Given the description of an element on the screen output the (x, y) to click on. 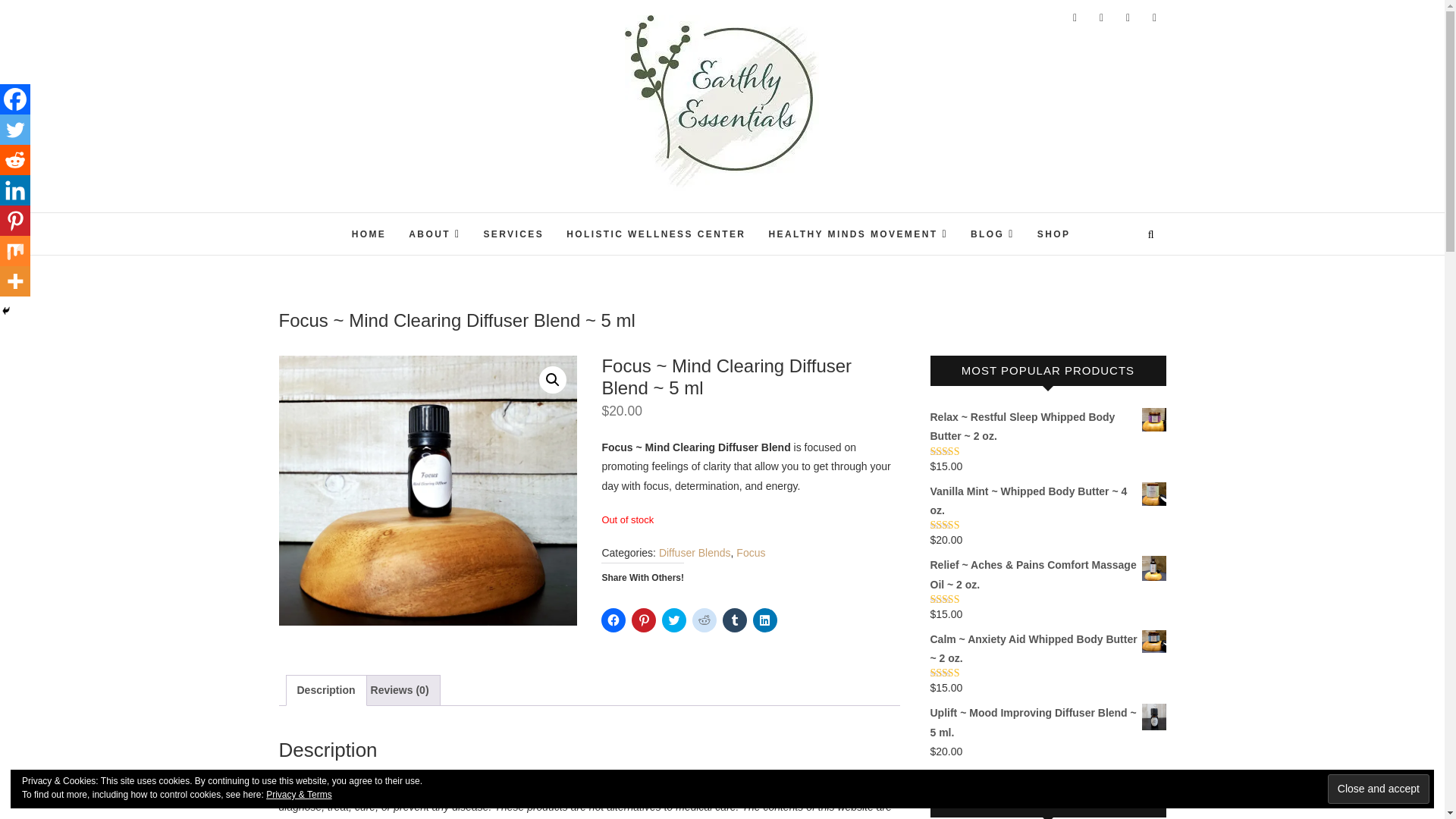
Close and accept (1378, 788)
Click to share on LinkedIn (764, 620)
Earthly Essentials (665, 215)
ABOUT (434, 233)
Click to share on Facebook (613, 620)
Click to share on Pinterest (643, 620)
SHOP (1053, 234)
Click to share on Twitter (673, 620)
HEALTHY MINDS MOVEMENT (858, 233)
BLOG (992, 233)
Earthly Essentials (665, 215)
Diffuser Blends (694, 552)
HOME (368, 234)
Click to share on Reddit (704, 620)
SERVICES (512, 234)
